Given the description of an element on the screen output the (x, y) to click on. 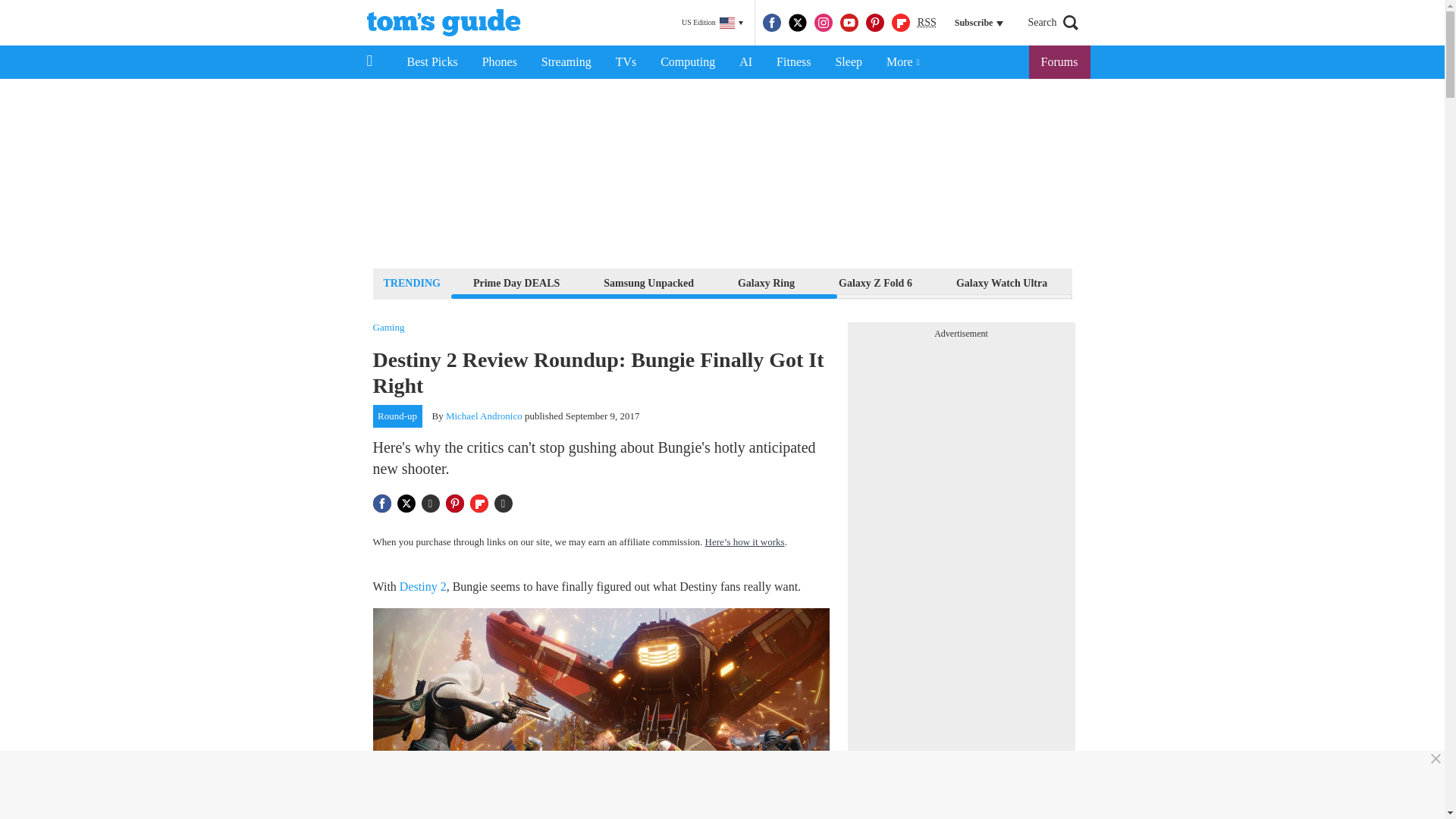
Phones (499, 61)
Really Simple Syndication (926, 21)
Streaming (566, 61)
Best Picks (431, 61)
AI (745, 61)
RSS (926, 22)
TVs (626, 61)
Fitness (793, 61)
US Edition (712, 22)
Computing (686, 61)
Sleep (848, 61)
